Given the description of an element on the screen output the (x, y) to click on. 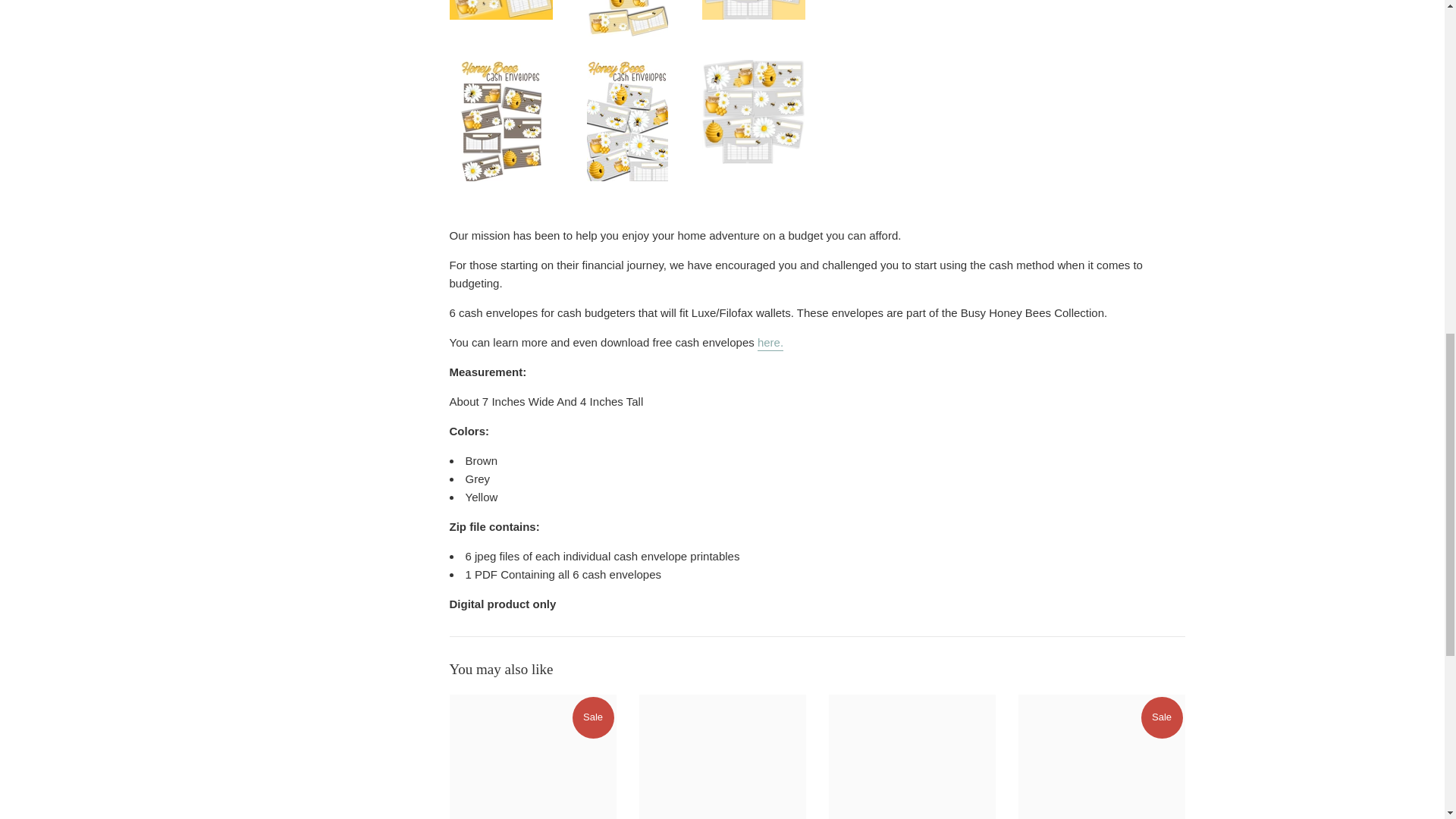
Everything Fall Cash Envelopes (722, 756)
2022 Summer Themed Vertical Cash Envelopes (911, 756)
here. (770, 343)
Fruit Themed Vertical Cash Envelopes (531, 756)
